Given the description of an element on the screen output the (x, y) to click on. 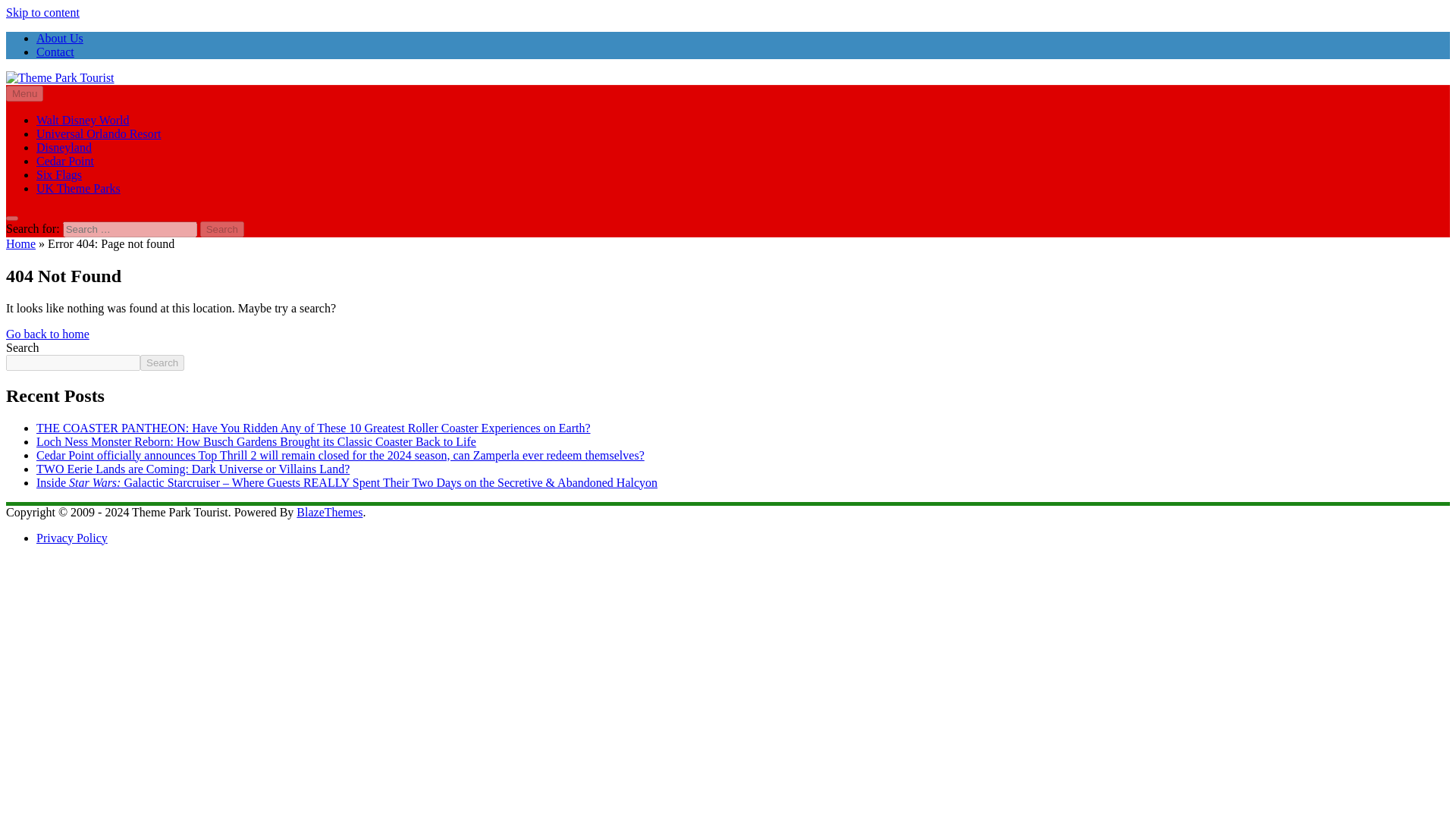
Go back to home (46, 333)
Walt Disney World (82, 119)
Contact (55, 51)
Disneyland (63, 146)
Skip to content (42, 11)
Search (222, 229)
Menu (24, 93)
Six Flags (58, 174)
BlazeThemes (329, 512)
